Given the description of an element on the screen output the (x, y) to click on. 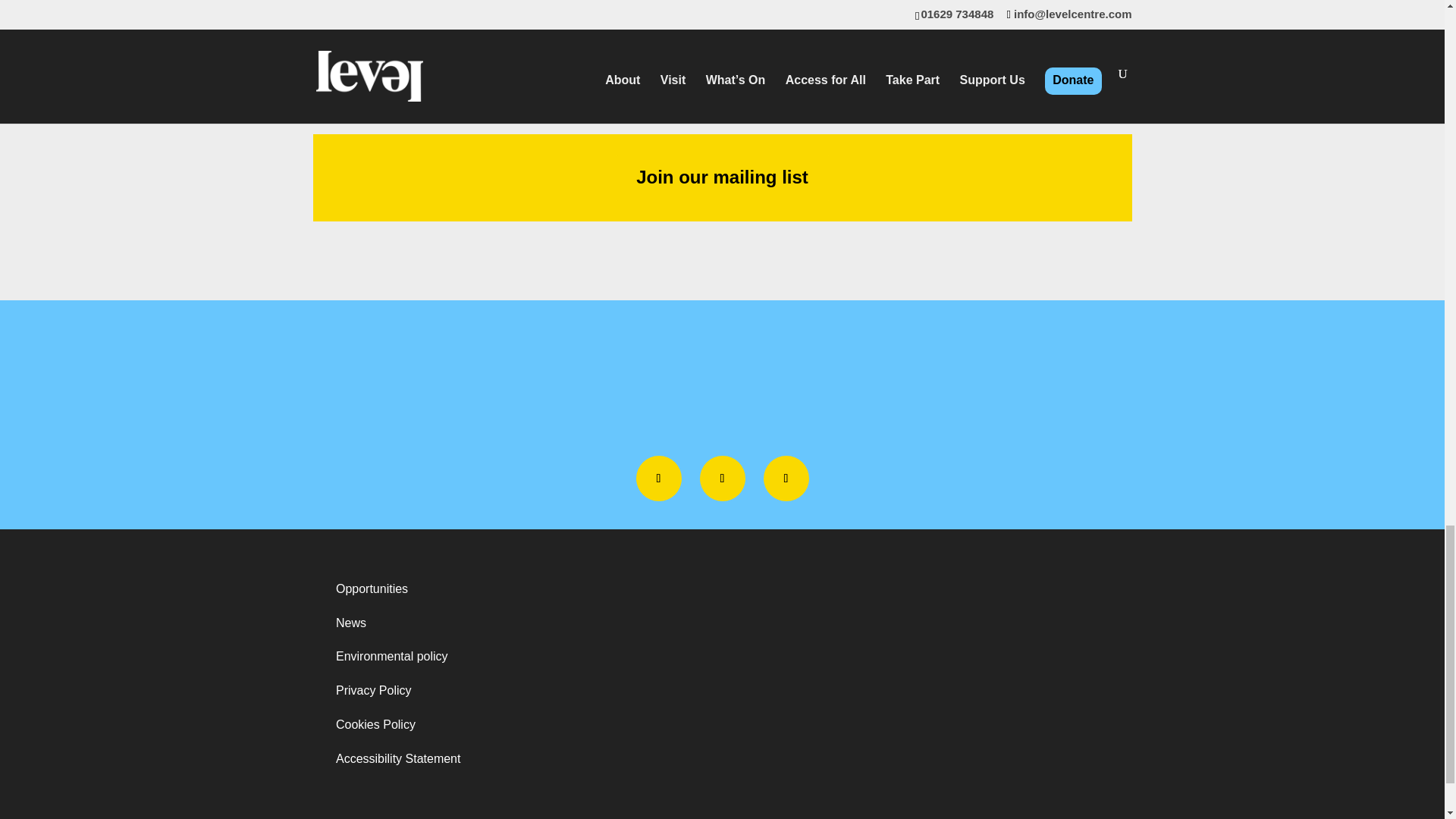
Privacy Policy (374, 689)
Cookies Policy (375, 724)
Read more about our access (721, 51)
Opportunities (371, 588)
Join our mailing list (721, 177)
Find out how you can support Level (433, 51)
Environmental policy (392, 656)
Accessibility Statement (398, 758)
News (351, 622)
Click to find out what's on (1009, 51)
